Given the description of an element on the screen output the (x, y) to click on. 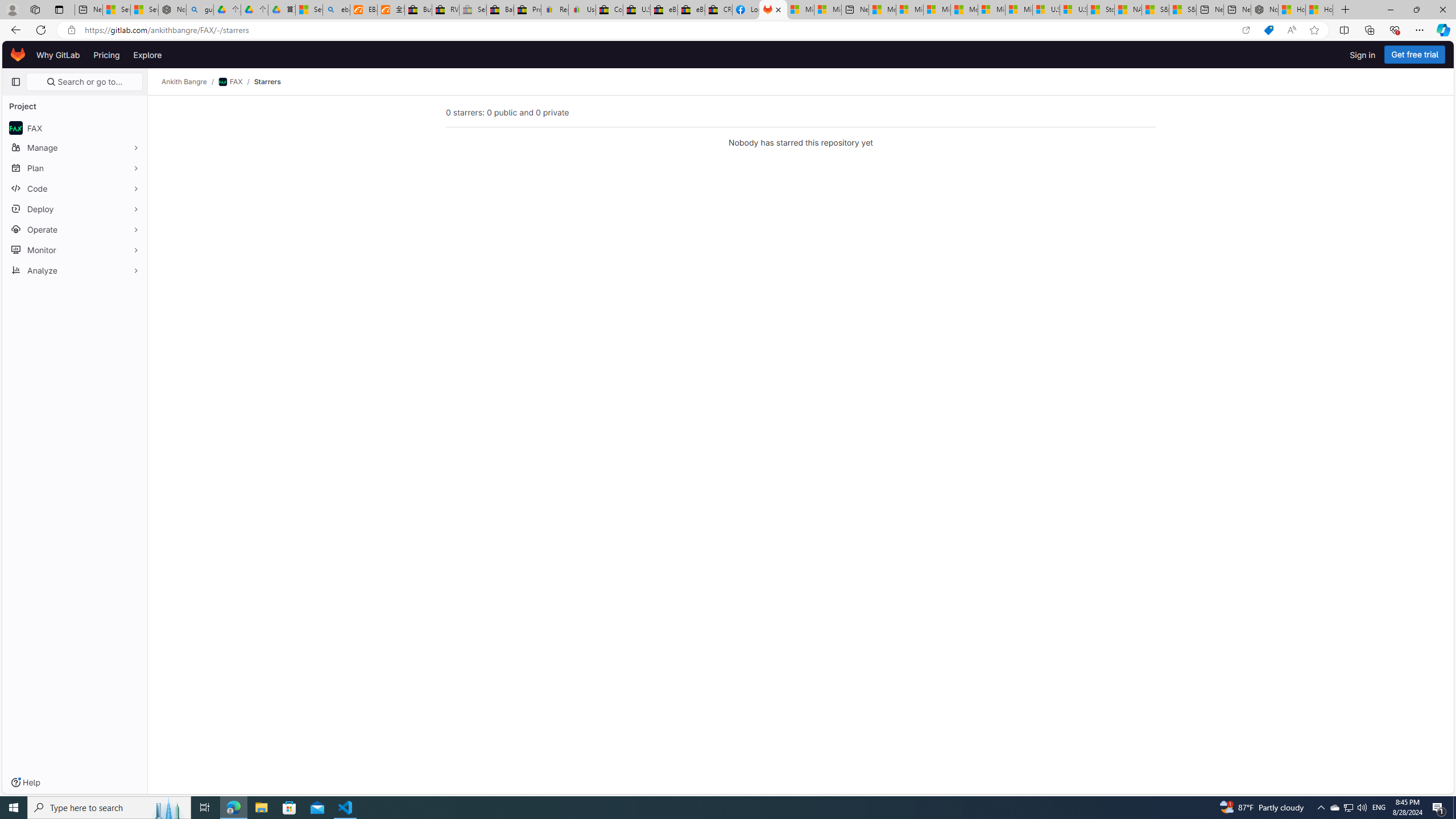
S&P 500, Nasdaq end lower, weighed by Nvidia dip | Watch (1182, 9)
Ankith Bangre/ (189, 81)
Code (74, 188)
Address and search bar (658, 29)
Tab actions menu (58, 9)
FAX (74, 127)
Workspaces (34, 9)
Baby Keepsakes & Announcements for sale | eBay (499, 9)
Pricing (106, 54)
Manage (74, 147)
U.S. State Privacy Disclosures - eBay Inc. (636, 9)
